Given the description of an element on the screen output the (x, y) to click on. 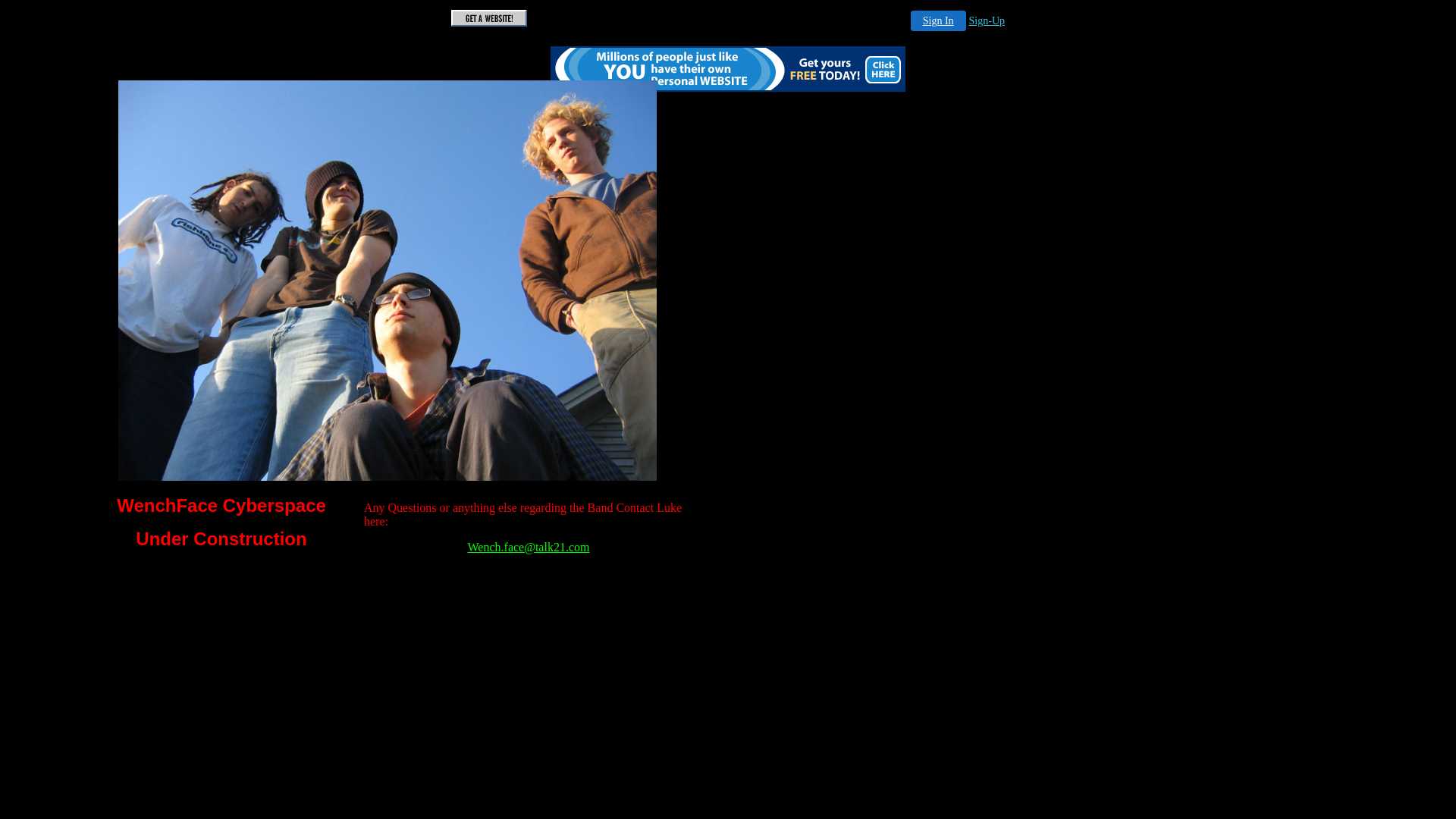
Sign-Up Element type: text (986, 20)
Sign In Element type: text (938, 20)
Wench.face@talk21.com Element type: text (528, 546)
